Given the description of an element on the screen output the (x, y) to click on. 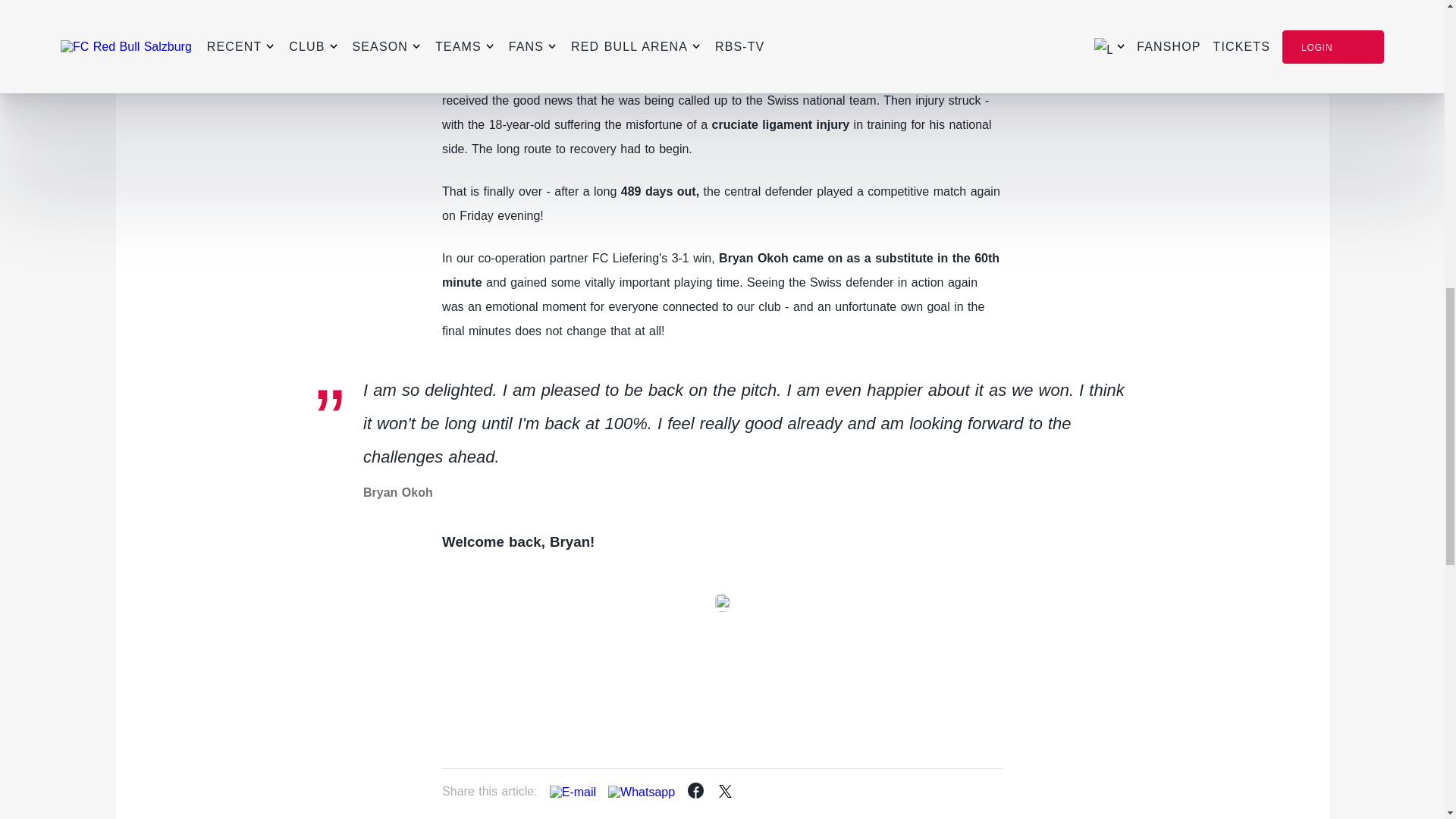
Share by Facebook (695, 791)
Share by Twitter (732, 789)
Share by e-mail (572, 792)
Bryan Okoh (477, 75)
Share by Whatsapp (641, 792)
